Given the description of an element on the screen output the (x, y) to click on. 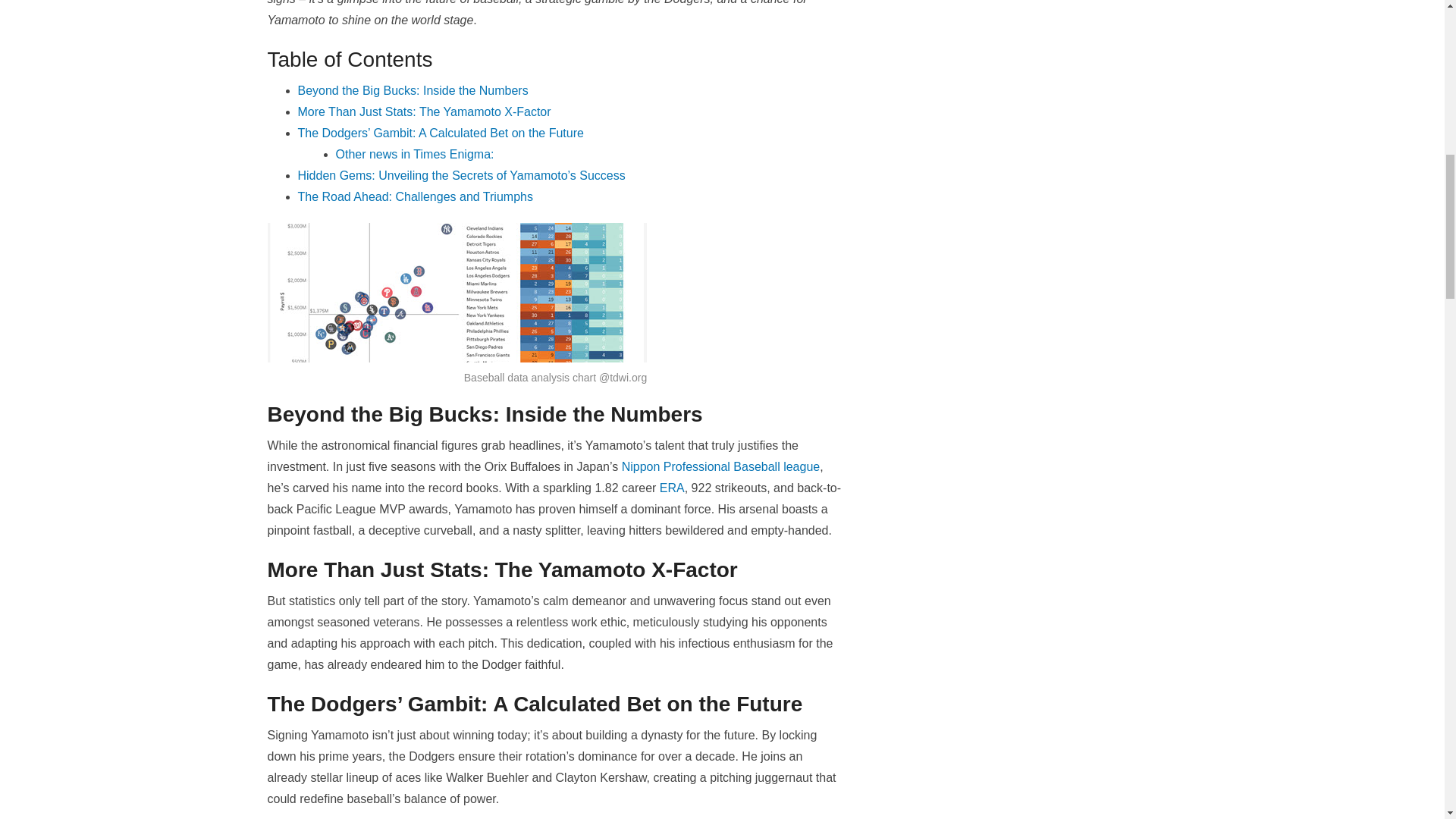
More Than Just Stats: The Yamamoto X-Factor (423, 111)
ERA (671, 487)
Other news in Times Enigma: (413, 154)
Nippon Professional Baseball league (721, 466)
Beyond the Big Bucks: Inside the Numbers (412, 90)
The Road Ahead: Challenges and Triumphs (414, 196)
